Given the description of an element on the screen output the (x, y) to click on. 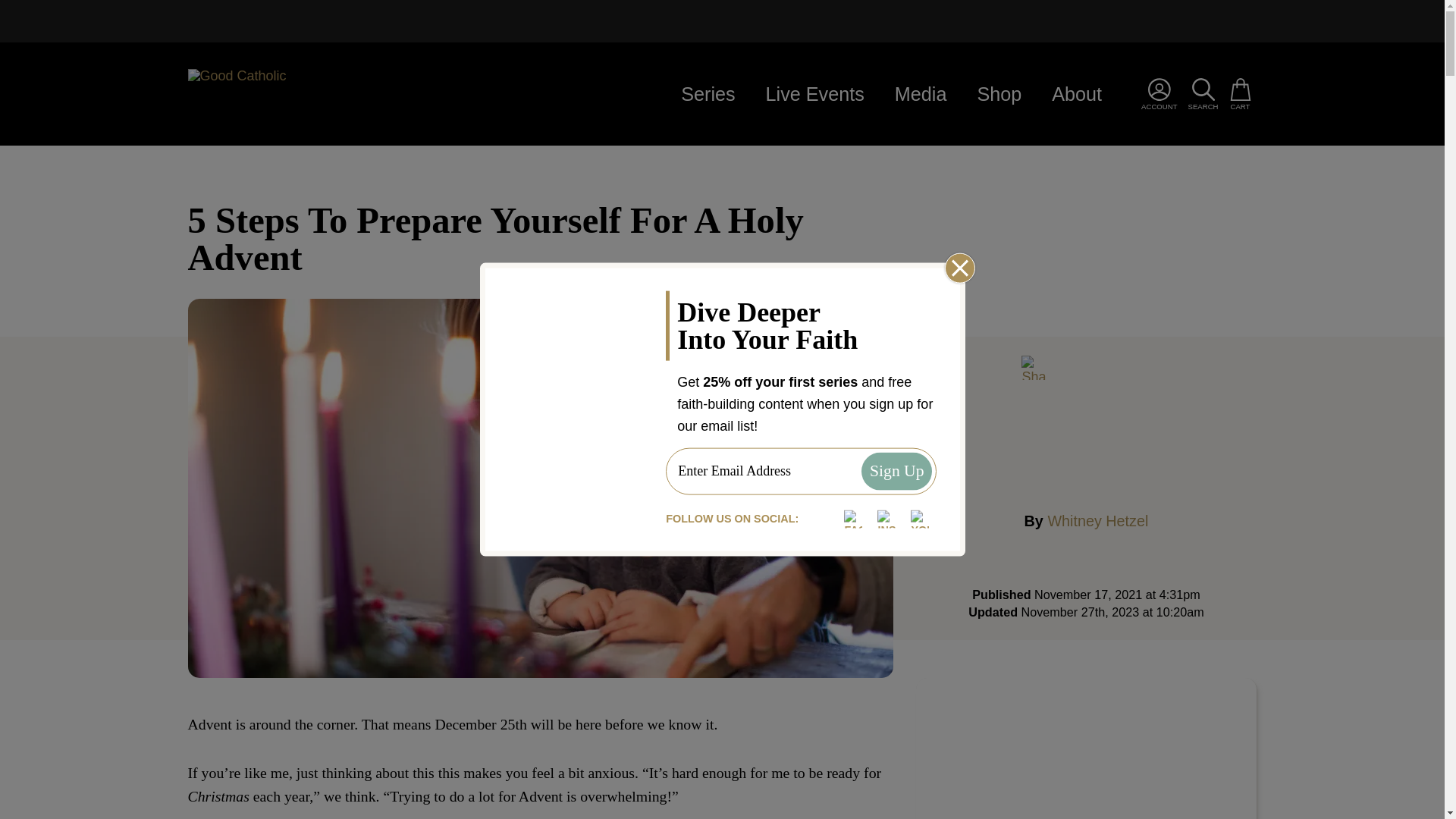
Live Events (815, 93)
Series (707, 93)
Posts by Whitney Hetzel (1086, 748)
Good Catholic (1097, 520)
Media (312, 92)
Shop (920, 93)
Sign Up (998, 93)
Whitney Hetzel (896, 471)
User Account (1097, 520)
